Given the description of an element on the screen output the (x, y) to click on. 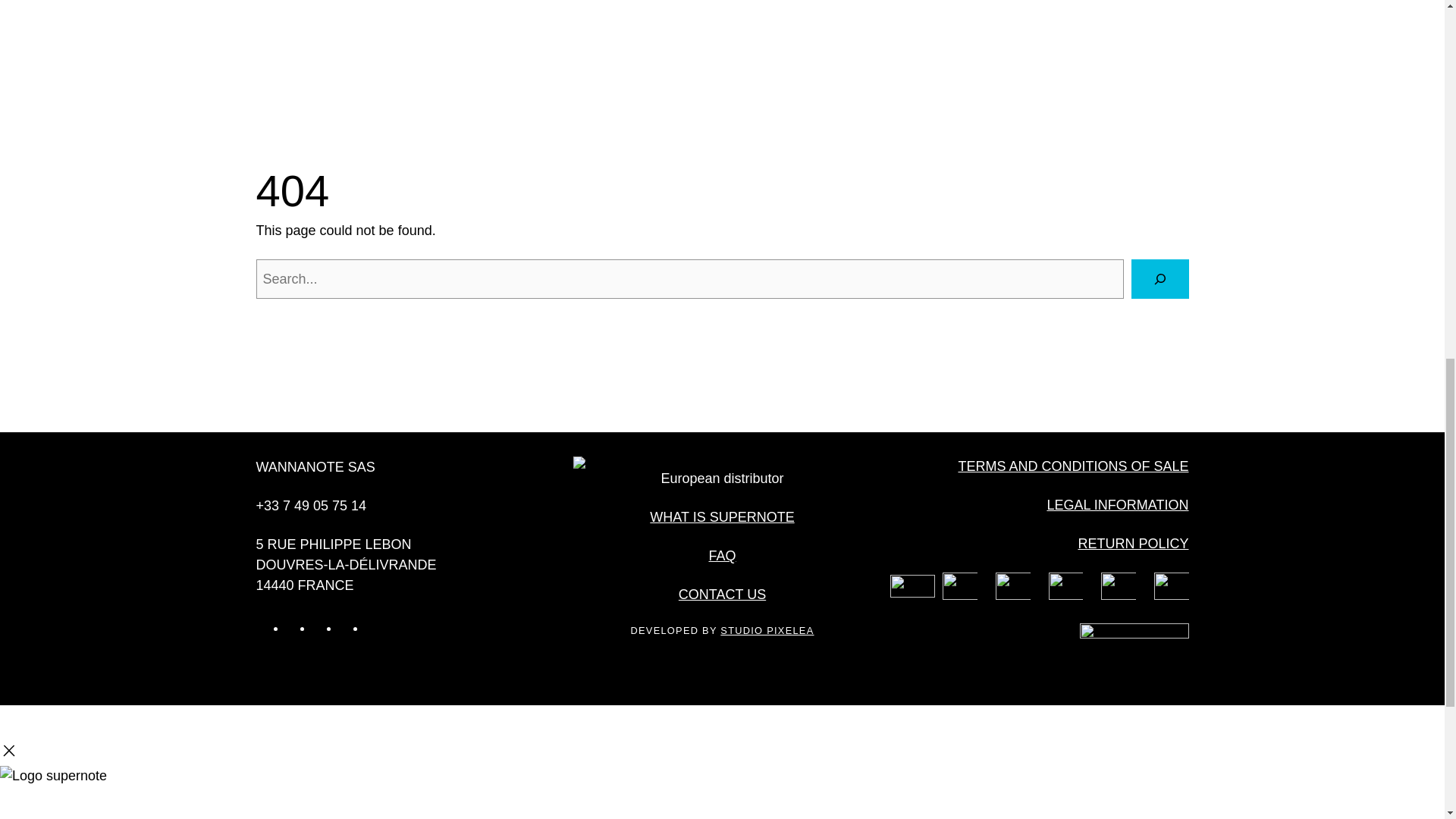
Reddit (374, 627)
Instagram (295, 627)
LEGAL INFORMATION (1117, 504)
WHAT IS SUPERNOTE (721, 516)
Facebook (321, 627)
CONTACT US (721, 594)
LinkedIn (348, 627)
STUDIO PIXELEA (766, 630)
FAQ (721, 555)
TERMS AND CONDITIONS OF SALE (1073, 466)
